Given the description of an element on the screen output the (x, y) to click on. 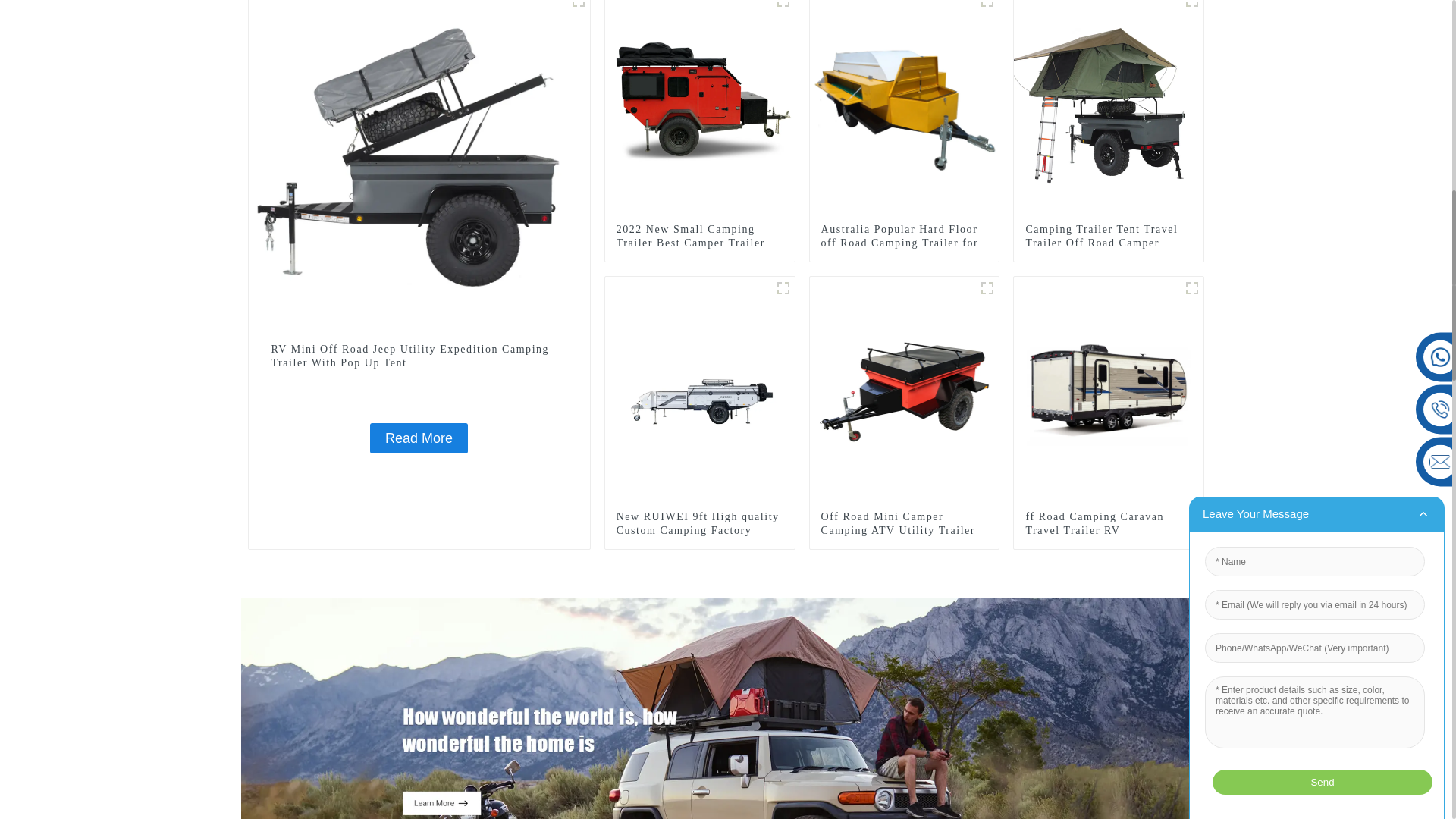
POP UP CAMPER (578, 6)
Camping Trailer Tent Travel Trailer Off Road Camper Trailer (1108, 242)
tent-3 (1192, 6)
Camping Trailer Tent Travel Trailer Off Road Camper Trailer (1108, 242)
mini tent trailer (782, 6)
